Given the description of an element on the screen output the (x, y) to click on. 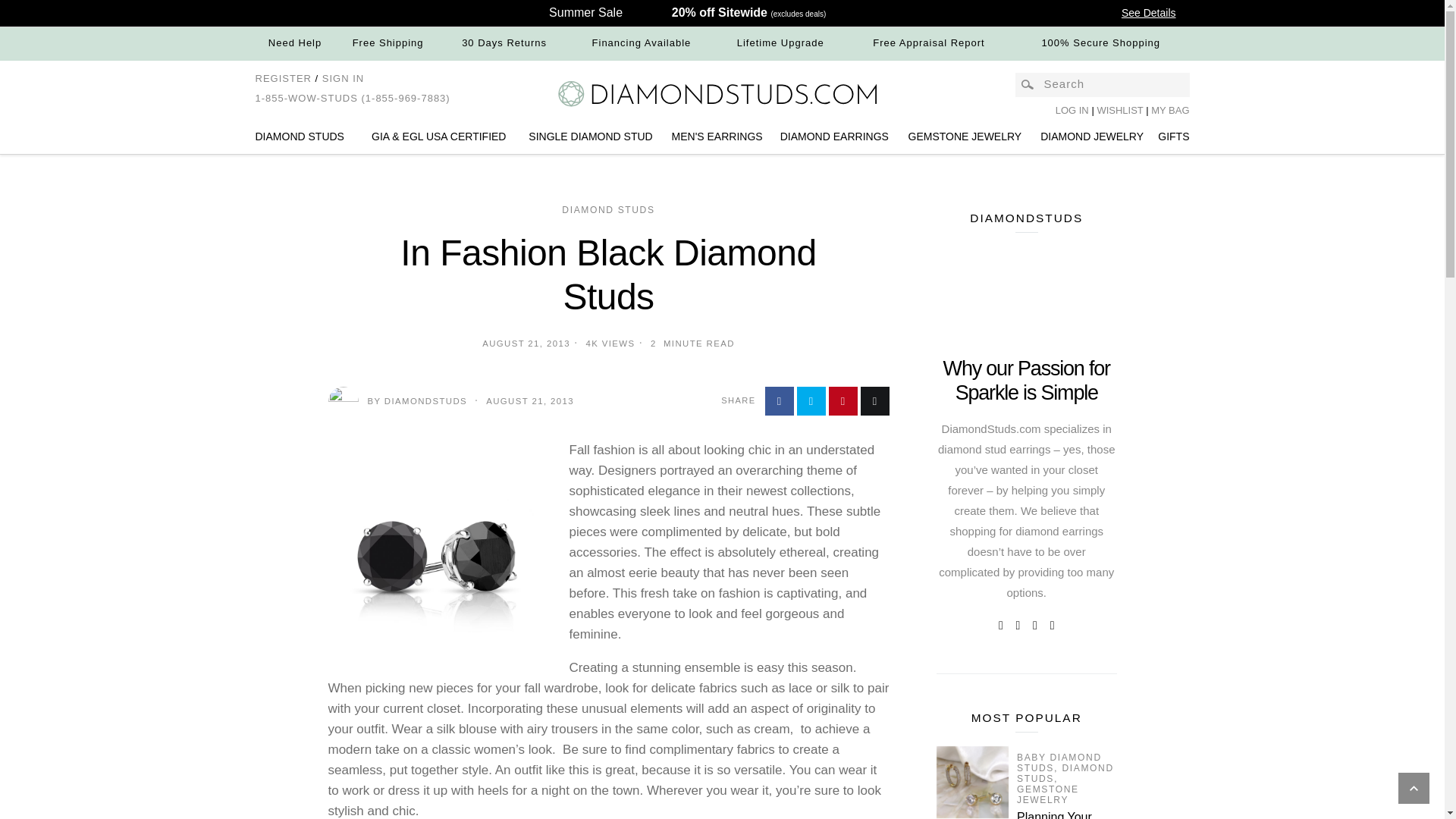
REGISTER (282, 78)
Share by Email (874, 400)
WISHLIST (1120, 110)
Free Appraisal Report (928, 42)
SIGN IN (342, 78)
Financing Available (641, 42)
Share on Twitter (810, 400)
Need Help (294, 42)
MY BAG (1170, 110)
